Given the description of an element on the screen output the (x, y) to click on. 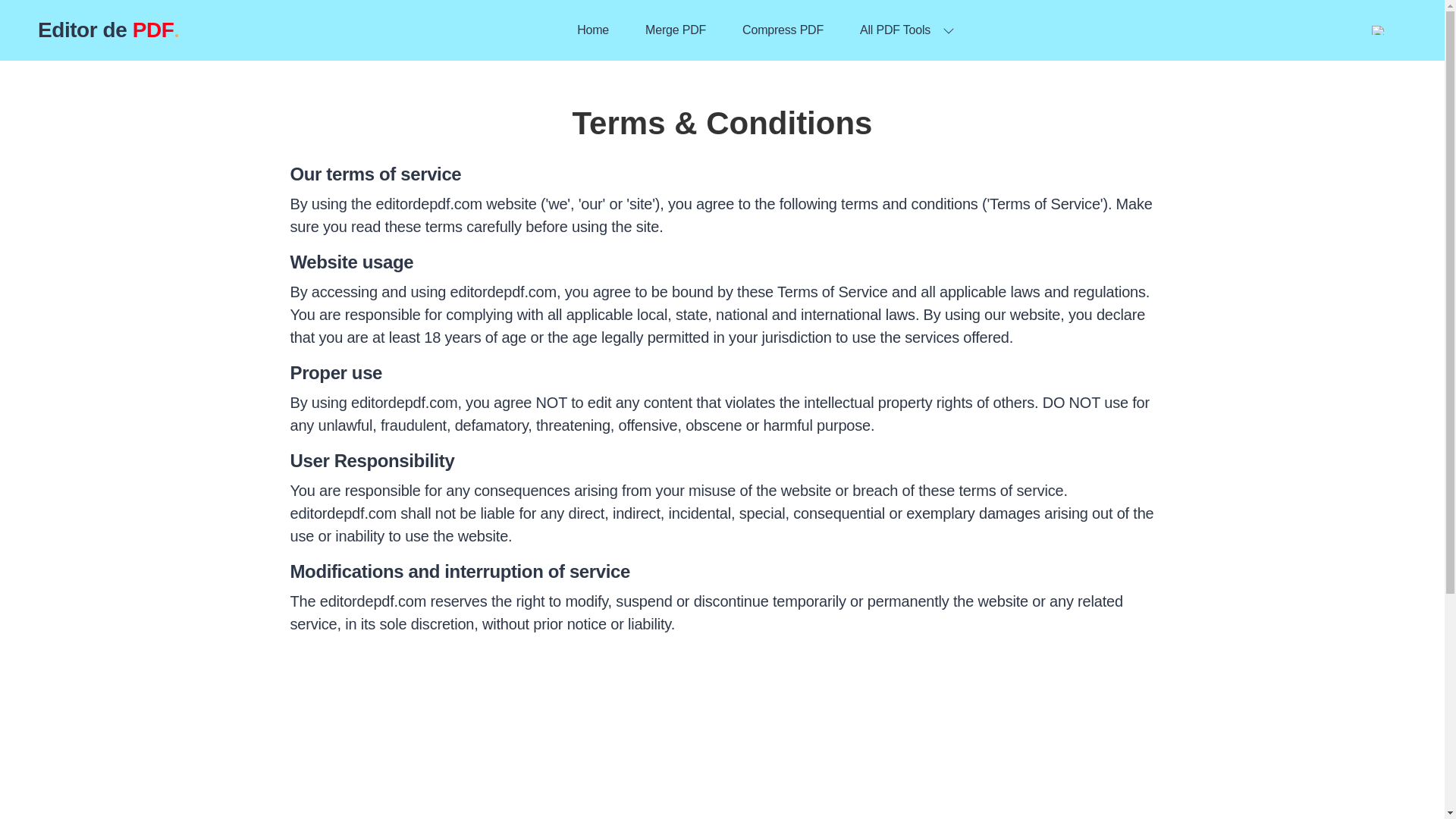
Organize PDF (186, 219)
BMP To PDF (738, 182)
Grayscale PDF (462, 146)
PDF To ZIP (1015, 365)
Compress PDF (462, 109)
Unlock PDF (1291, 146)
Compress PDF (783, 29)
Remove Pages (186, 182)
Repair PDF (462, 219)
PDF To TIFF (1015, 219)
Excel To PDF (738, 365)
PDF To JPG (1015, 109)
PNG To PDF (738, 146)
PDF To Word (1015, 255)
JPG To PDF (738, 109)
